Given the description of an element on the screen output the (x, y) to click on. 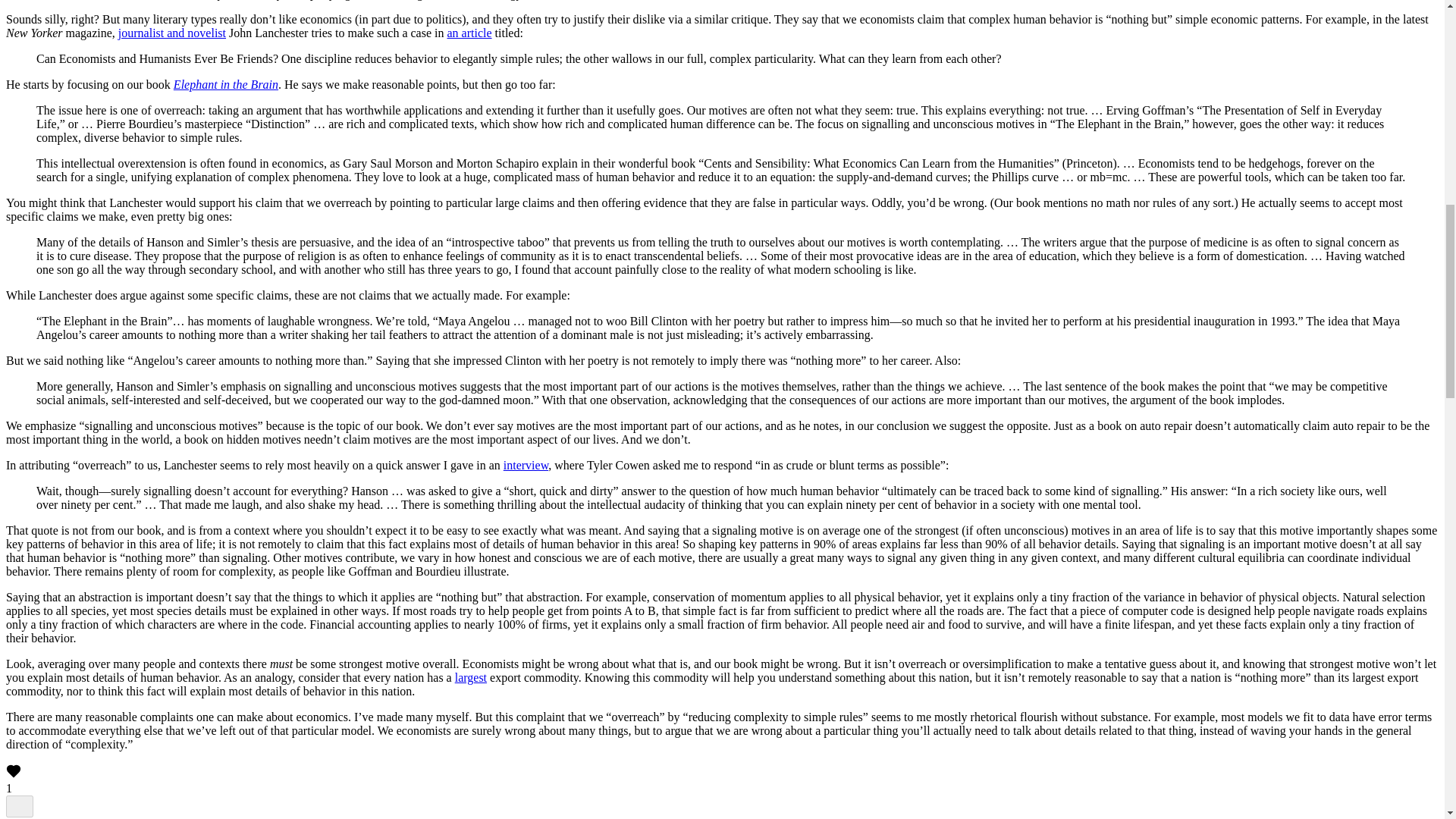
Elephant in the Brain (225, 83)
an article (469, 32)
journalist and novelist (171, 32)
largest (470, 676)
interview (525, 464)
